Given the description of an element on the screen output the (x, y) to click on. 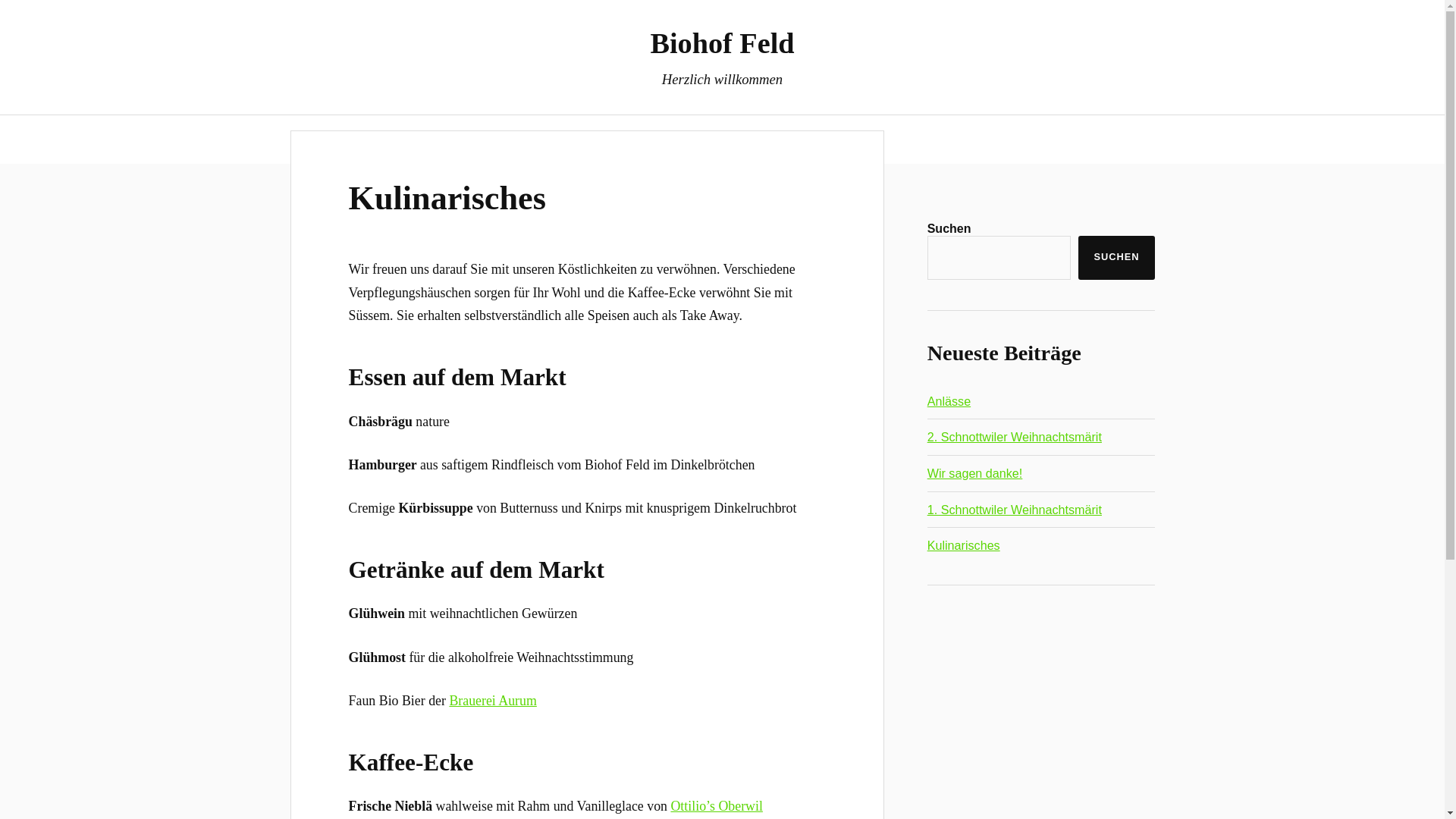
Startseite Element type: text (624, 139)
Biohof Feld Element type: text (721, 43)
Wir sagen danke! Element type: text (974, 473)
SUCHEN Element type: text (1116, 257)
Brauerei Aurum Element type: text (492, 700)
Kulinarisches Element type: text (447, 197)
Kulinarisches Element type: text (963, 545)
